Given the description of an element on the screen output the (x, y) to click on. 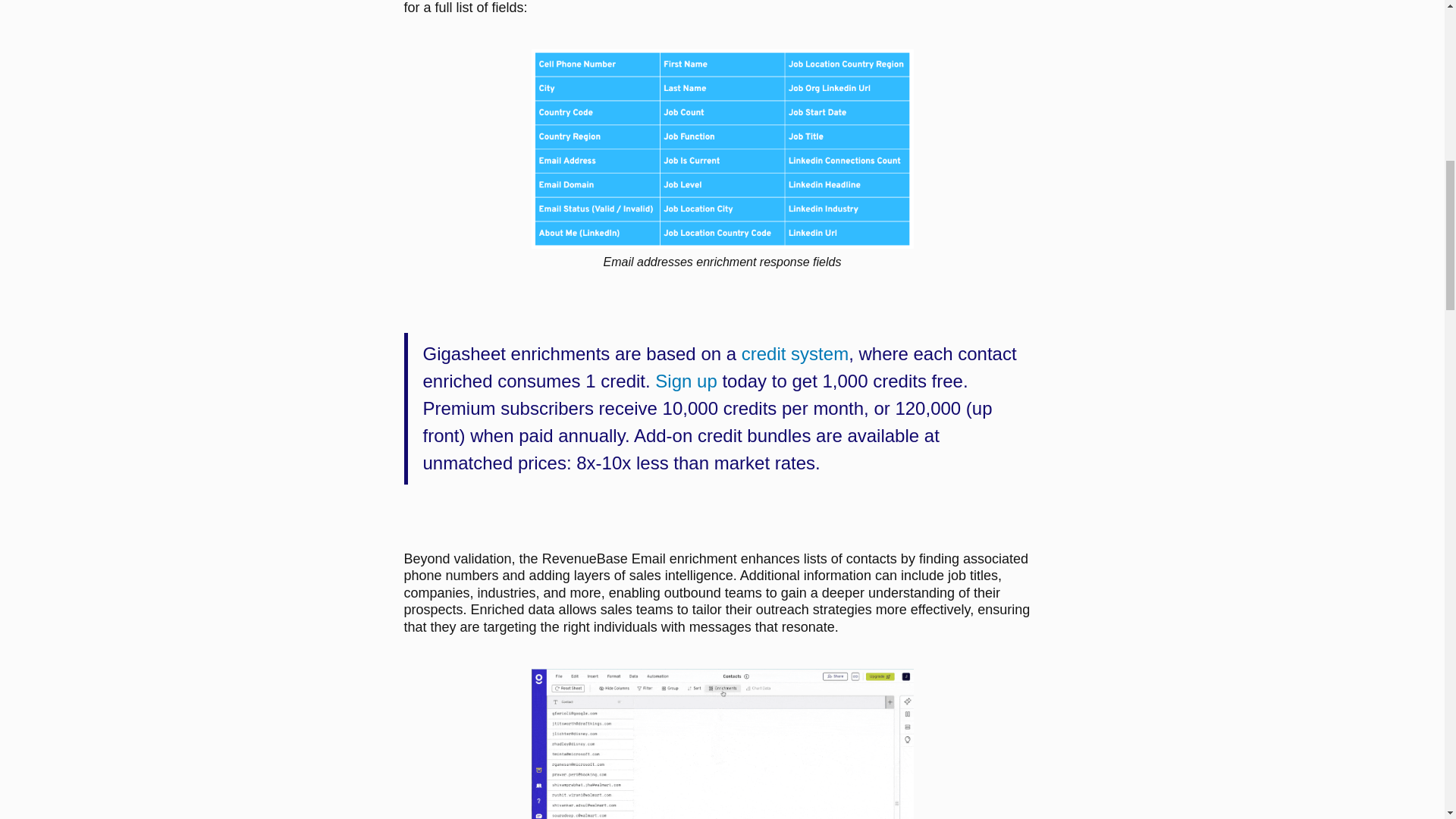
Sign up (685, 381)
credit system (794, 353)
